Given the description of an element on the screen output the (x, y) to click on. 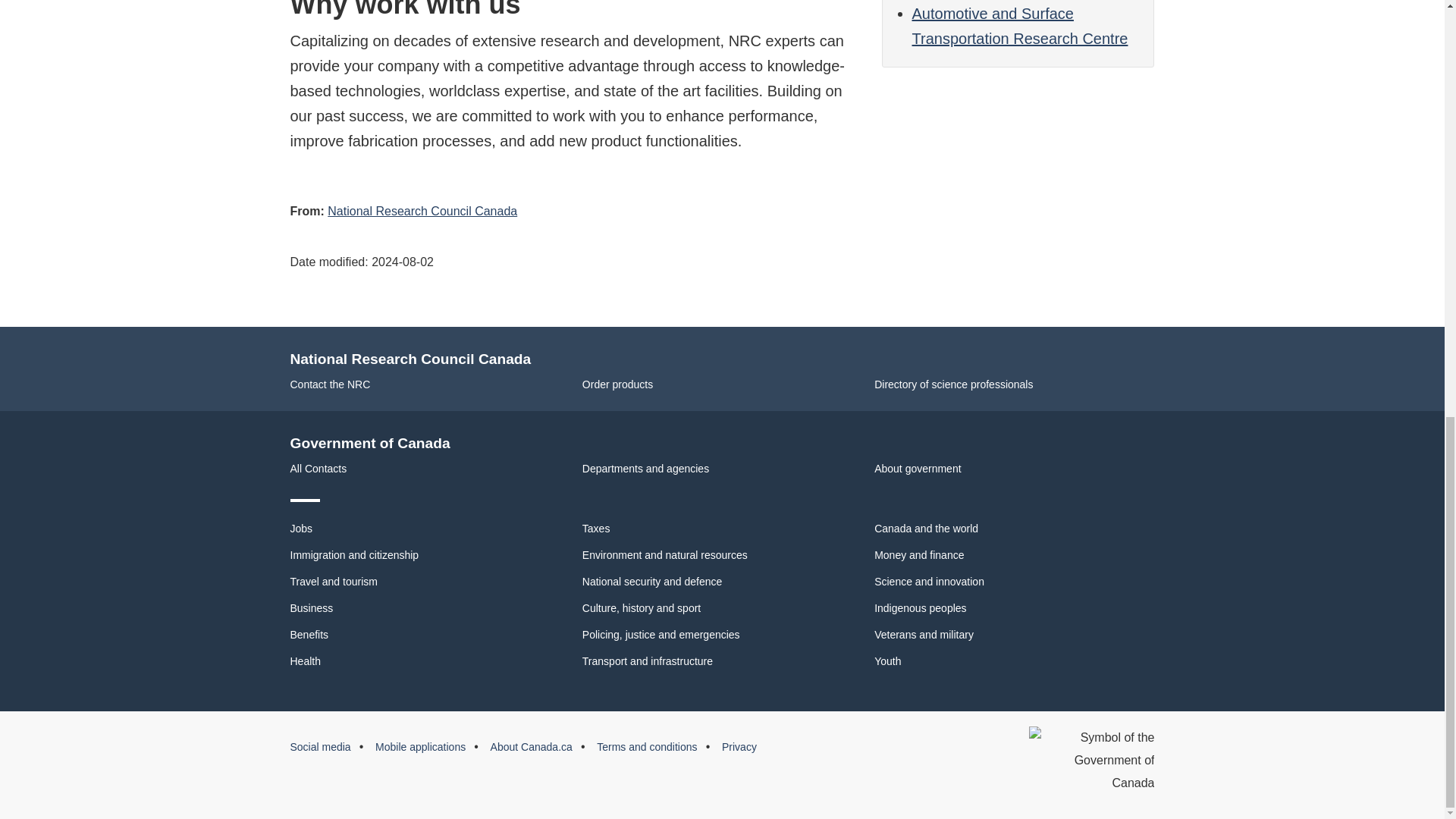
All Contacts (317, 468)
National Research Council Canada (421, 210)
Automotive and Surface Transportation Research Centre (1018, 25)
Contact the NRC (329, 384)
Order products (617, 384)
Directory of science professionals (953, 384)
